Given the description of an element on the screen output the (x, y) to click on. 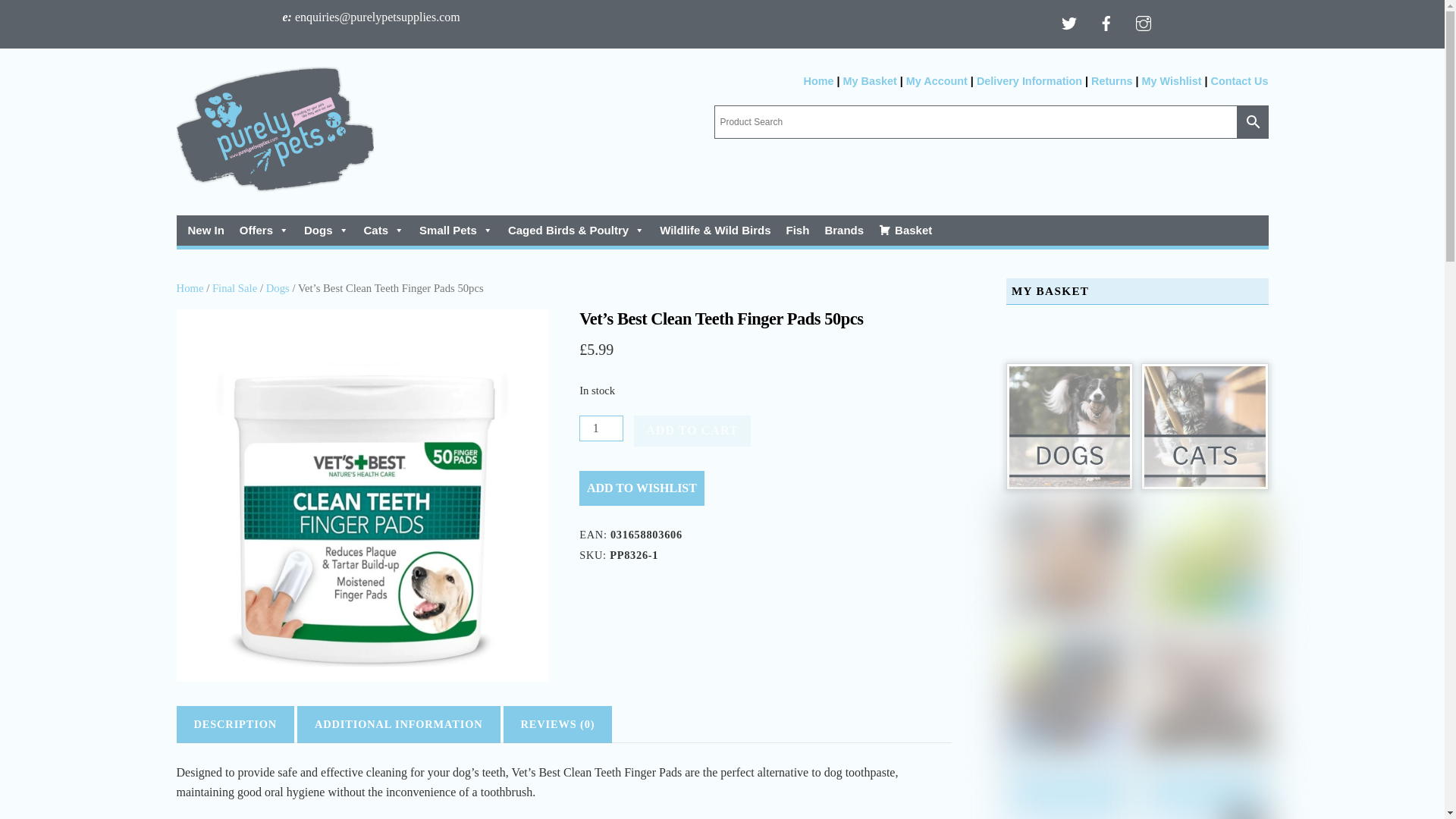
New In (205, 230)
Main Shop Wild Animals Category Link Image (1204, 695)
1 (601, 428)
Purely Pet Supplies (274, 129)
Offers (264, 230)
Main Shop Small Pets Category Link Image (1069, 560)
Main Shop Dogs Category Link Image (1069, 426)
Main Shop CAT Category Link Image (1204, 426)
Purely Pet Supplies Ltd (274, 185)
